Given the description of an element on the screen output the (x, y) to click on. 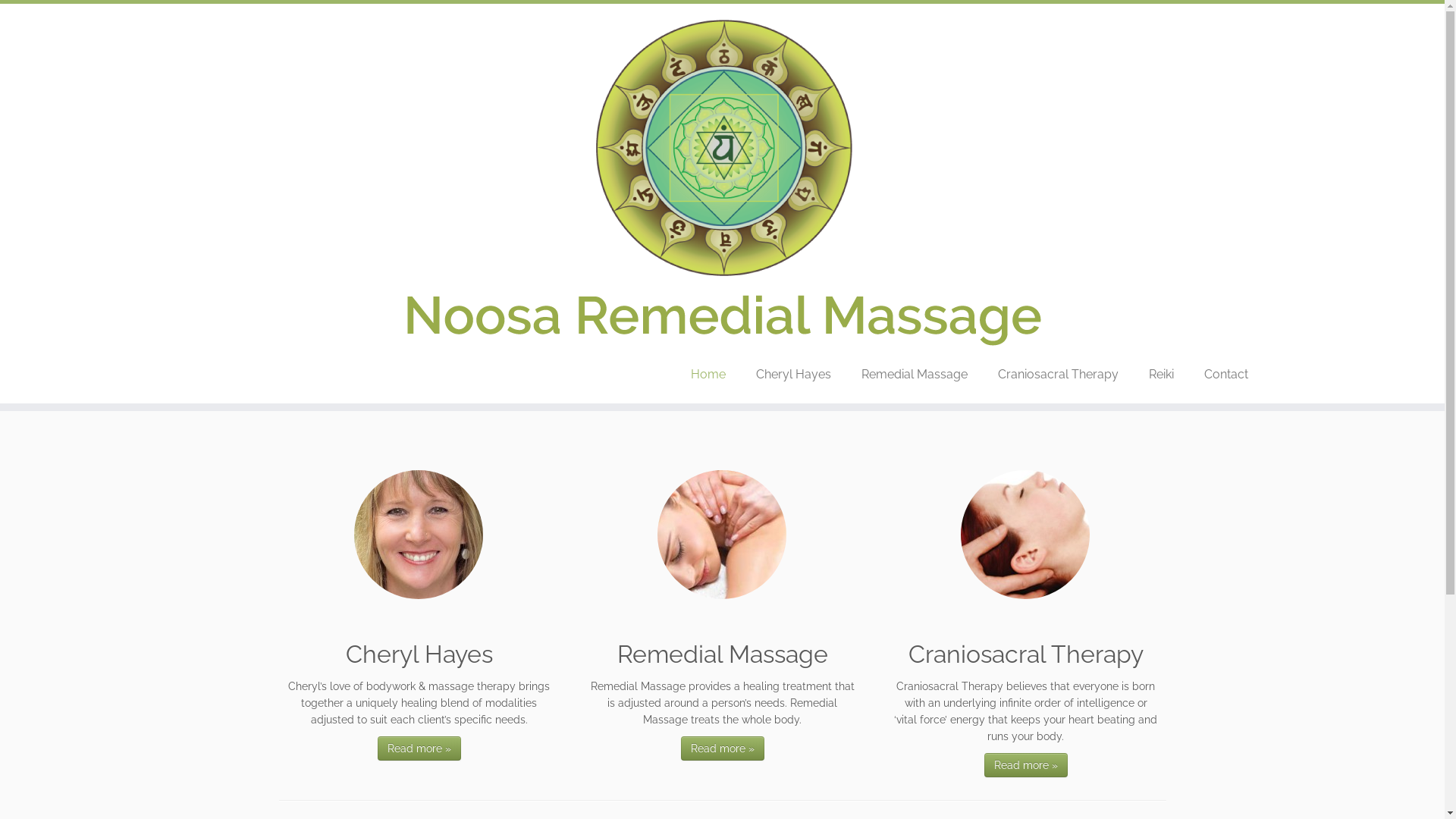
Cheryl Hayes Element type: text (793, 374)
Home Element type: text (707, 374)
Contact Element type: text (1218, 374)
Craniosacral Therapy Element type: hover (1024, 534)
Noosa Remedial Massage | Noosa massage therapy Element type: hover (722, 181)
Craniosacral Therapy Element type: text (1057, 374)
Remedial Massage Element type: text (914, 374)
Remedial Massage Element type: hover (721, 534)
Reiki Element type: text (1161, 374)
Cheryl Hayes Element type: hover (418, 534)
